Given the description of an element on the screen output the (x, y) to click on. 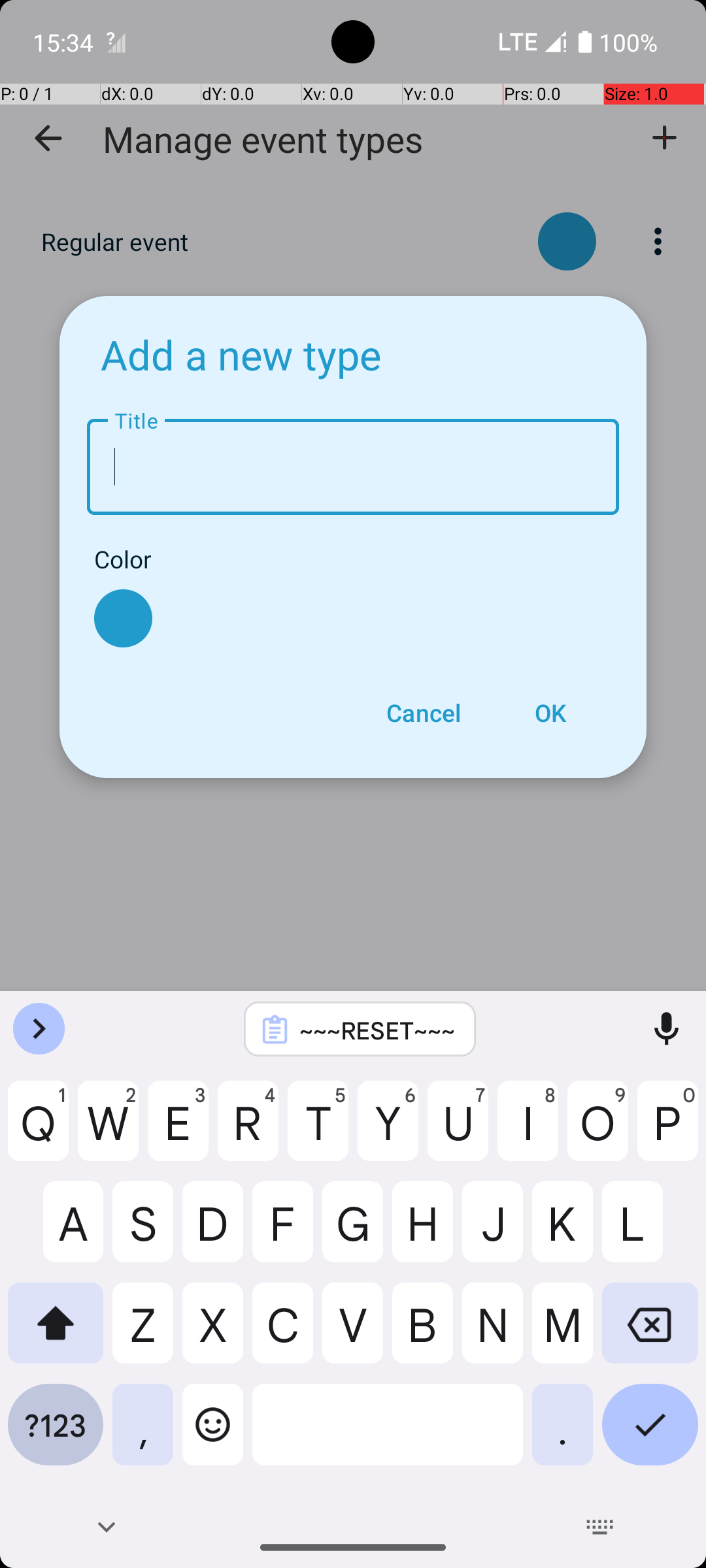
Add a new type Element type: android.widget.TextView (240, 354)
